Given the description of an element on the screen output the (x, y) to click on. 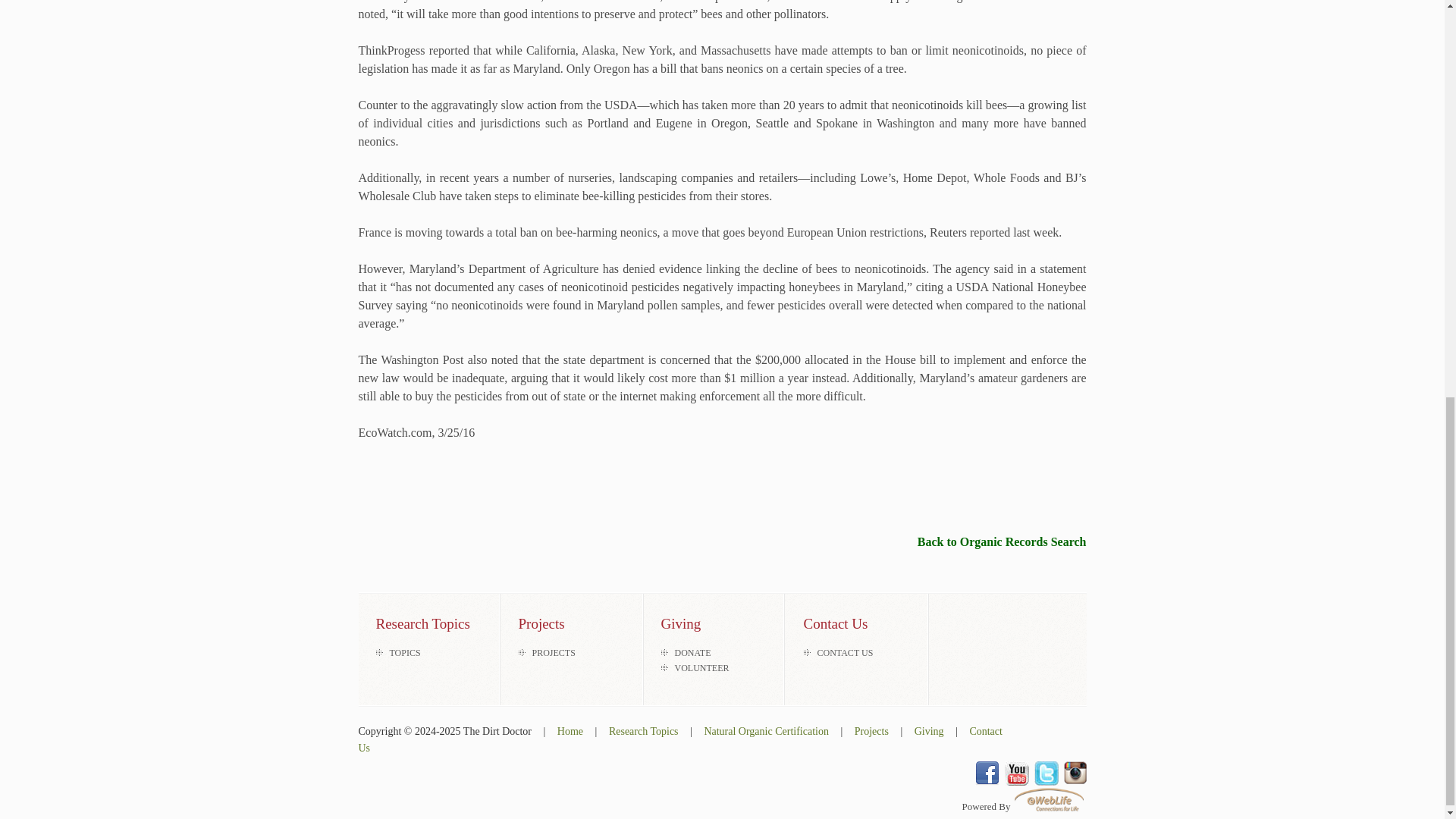
Research Topics (643, 731)
Giving (928, 731)
Back to Organic Records Search (1001, 541)
DONATE (693, 652)
Natural Organic Certification (765, 731)
CONTACT US (844, 652)
VOLUNTEER (702, 667)
TOPICS (405, 652)
Contact Us (679, 739)
Projects (871, 731)
Home (570, 731)
PROJECTS (553, 652)
